Given the description of an element on the screen output the (x, y) to click on. 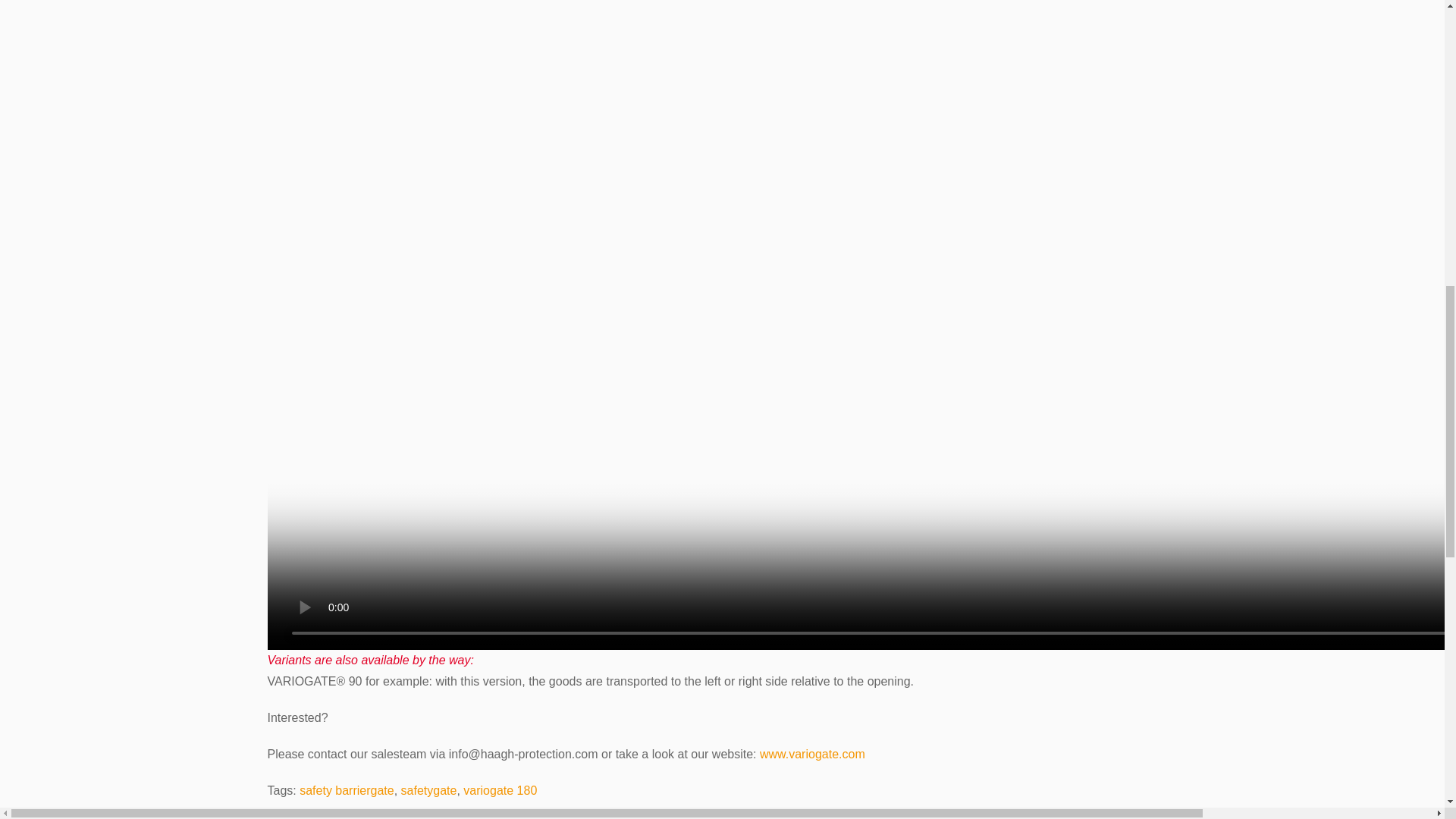
Variogate 180 safety palletgate system -DDM (315, 817)
safety barriergate (346, 789)
safetygate (429, 789)
Continue Reading (315, 817)
www.variogate.com (812, 753)
variogate 180 (500, 789)
